Given the description of an element on the screen output the (x, y) to click on. 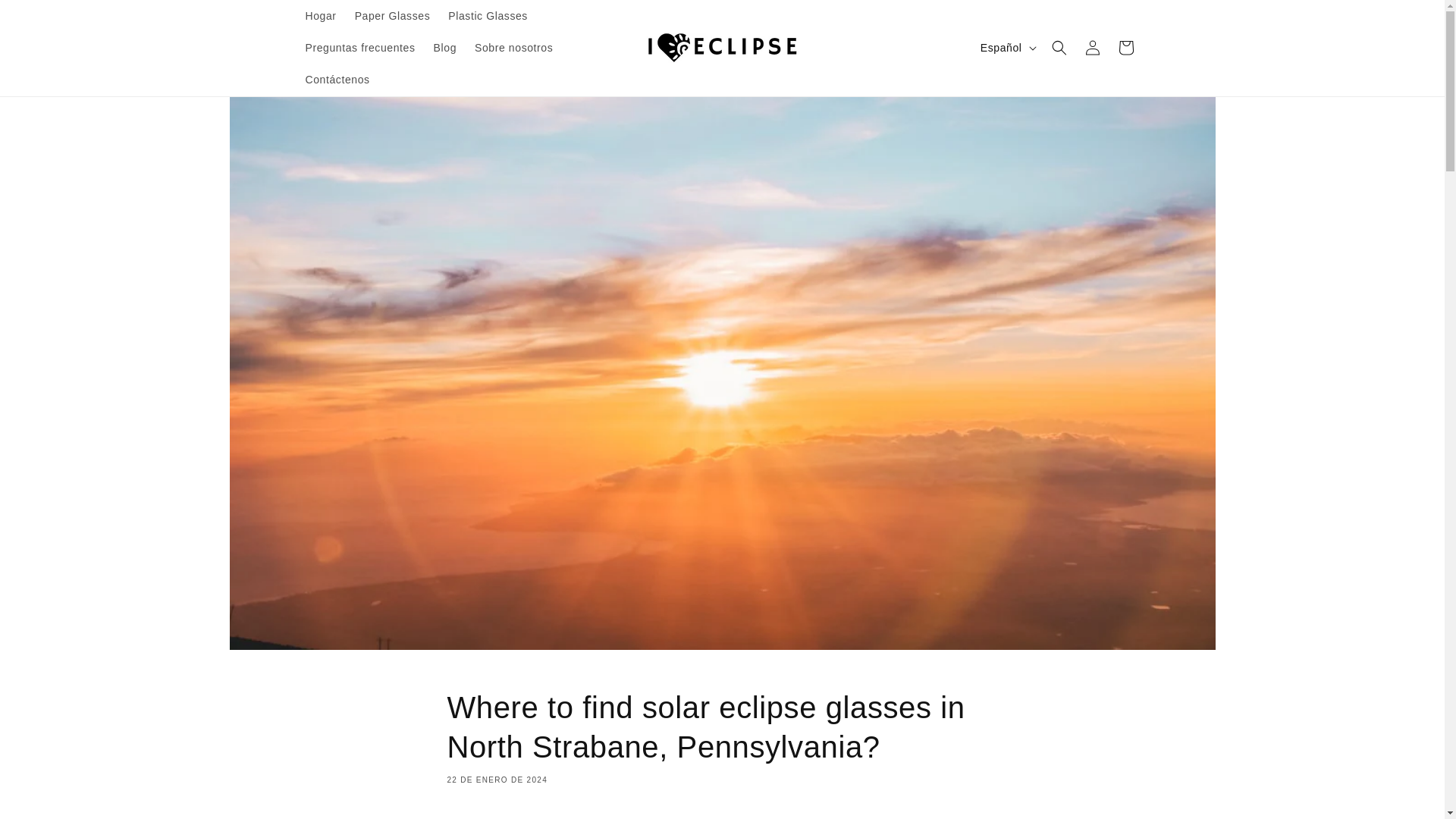
Carrito (1124, 47)
Sobre nosotros (513, 47)
Ir directamente al contenido (45, 17)
Paper Glasses (392, 15)
Hogar (320, 15)
Blog (445, 47)
Plastic Glasses (488, 15)
Preguntas frecuentes (359, 47)
